Given the description of an element on the screen output the (x, y) to click on. 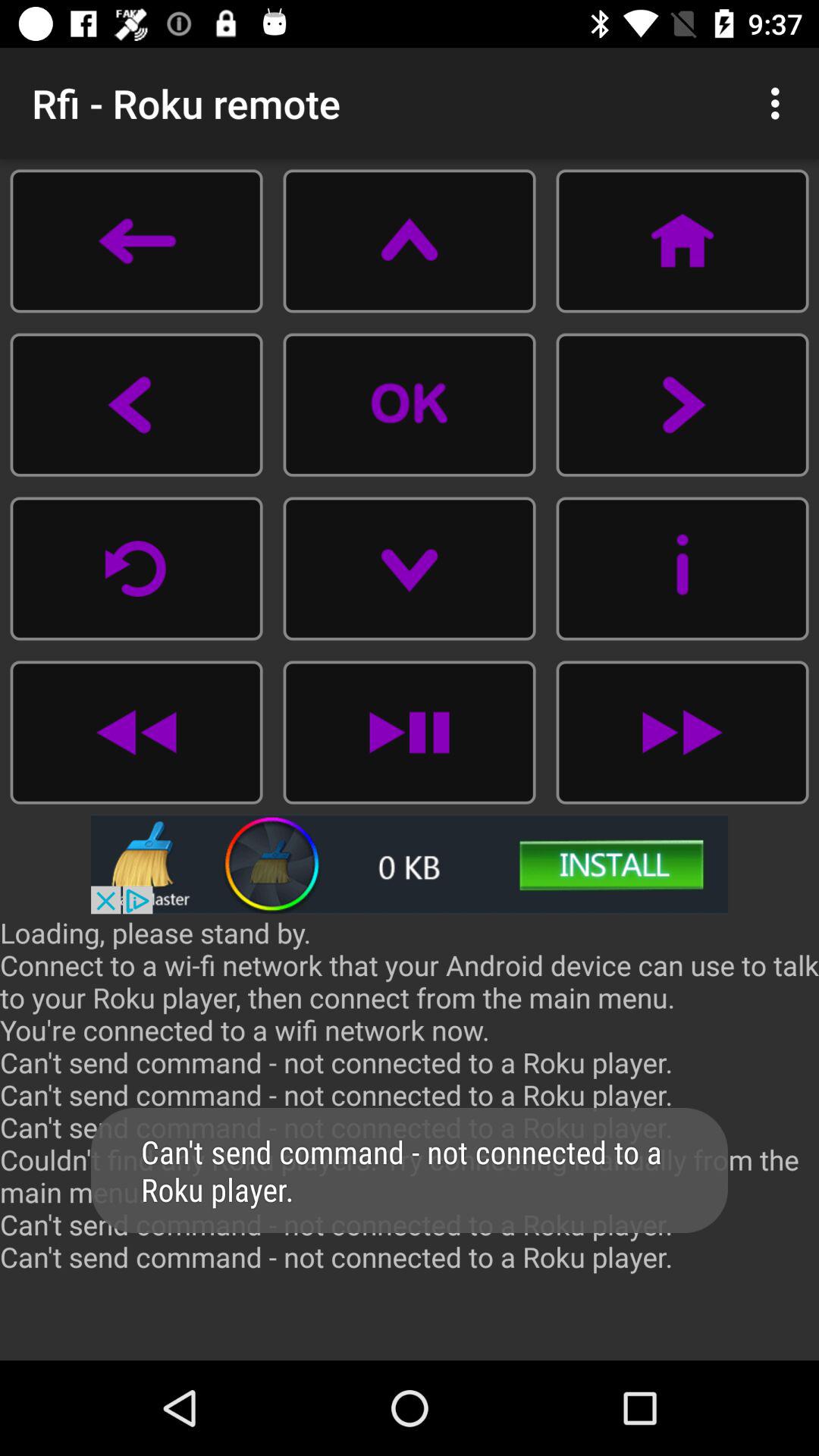
go to back (136, 240)
